Given the description of an element on the screen output the (x, y) to click on. 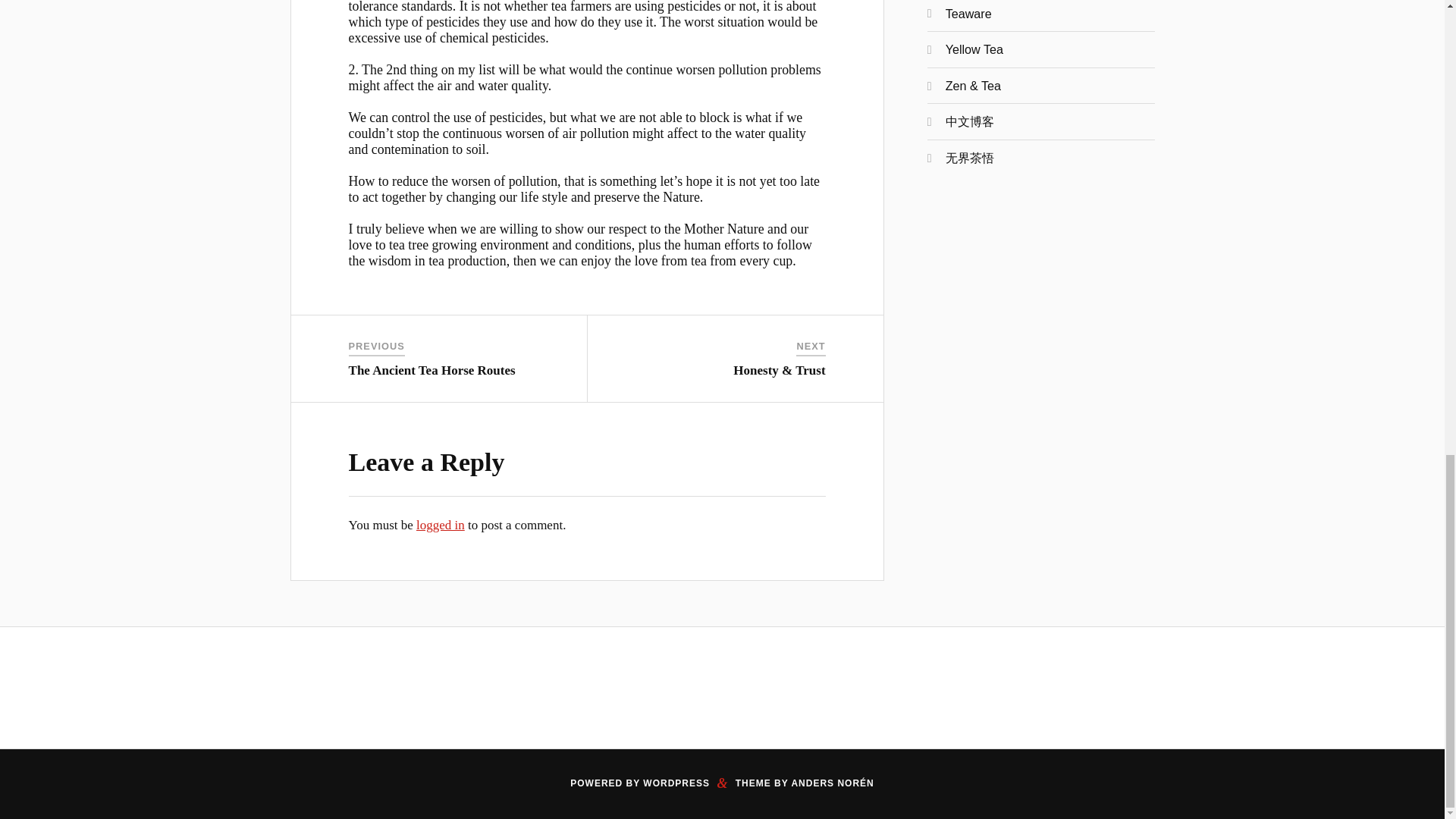
WORDPRESS (676, 783)
The Ancient Tea Horse Routes (432, 370)
logged in (440, 524)
Yellow Tea (973, 49)
Teaware (967, 13)
